Given the description of an element on the screen output the (x, y) to click on. 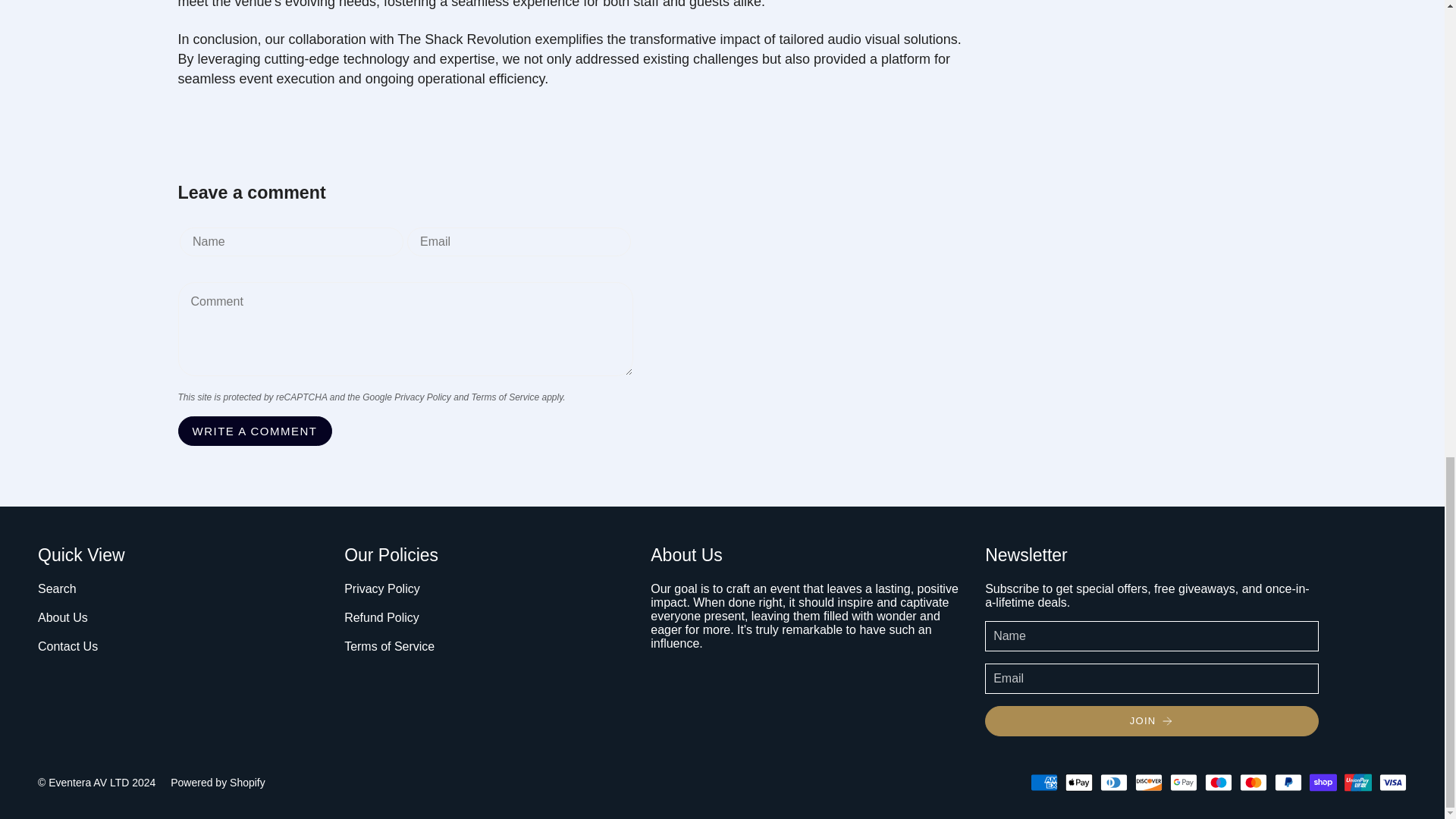
Write a comment (254, 430)
